Given the description of an element on the screen output the (x, y) to click on. 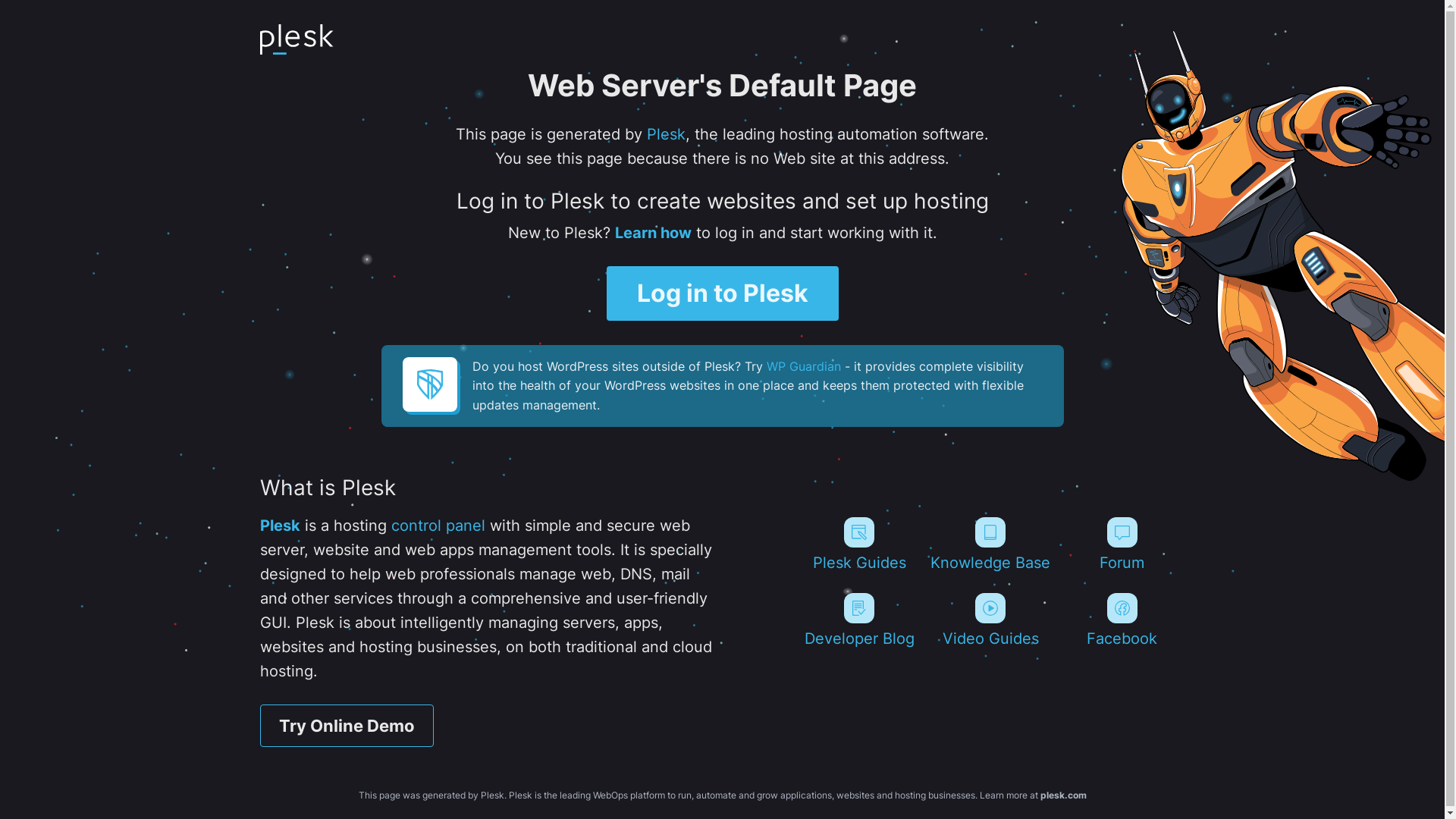
Log in to Plesk Element type: text (722, 293)
Plesk Element type: text (665, 134)
Plesk Guides Element type: text (858, 544)
Developer Blog Element type: text (858, 620)
Forum Element type: text (1121, 544)
plesk.com Element type: text (1063, 794)
Knowledge Base Element type: text (990, 544)
WP Guardian Element type: text (802, 365)
Try Online Demo Element type: text (346, 725)
Facebook Element type: text (1121, 620)
Video Guides Element type: text (990, 620)
control panel Element type: text (438, 525)
Learn how Element type: text (652, 232)
Plesk Element type: text (279, 525)
